Given the description of an element on the screen output the (x, y) to click on. 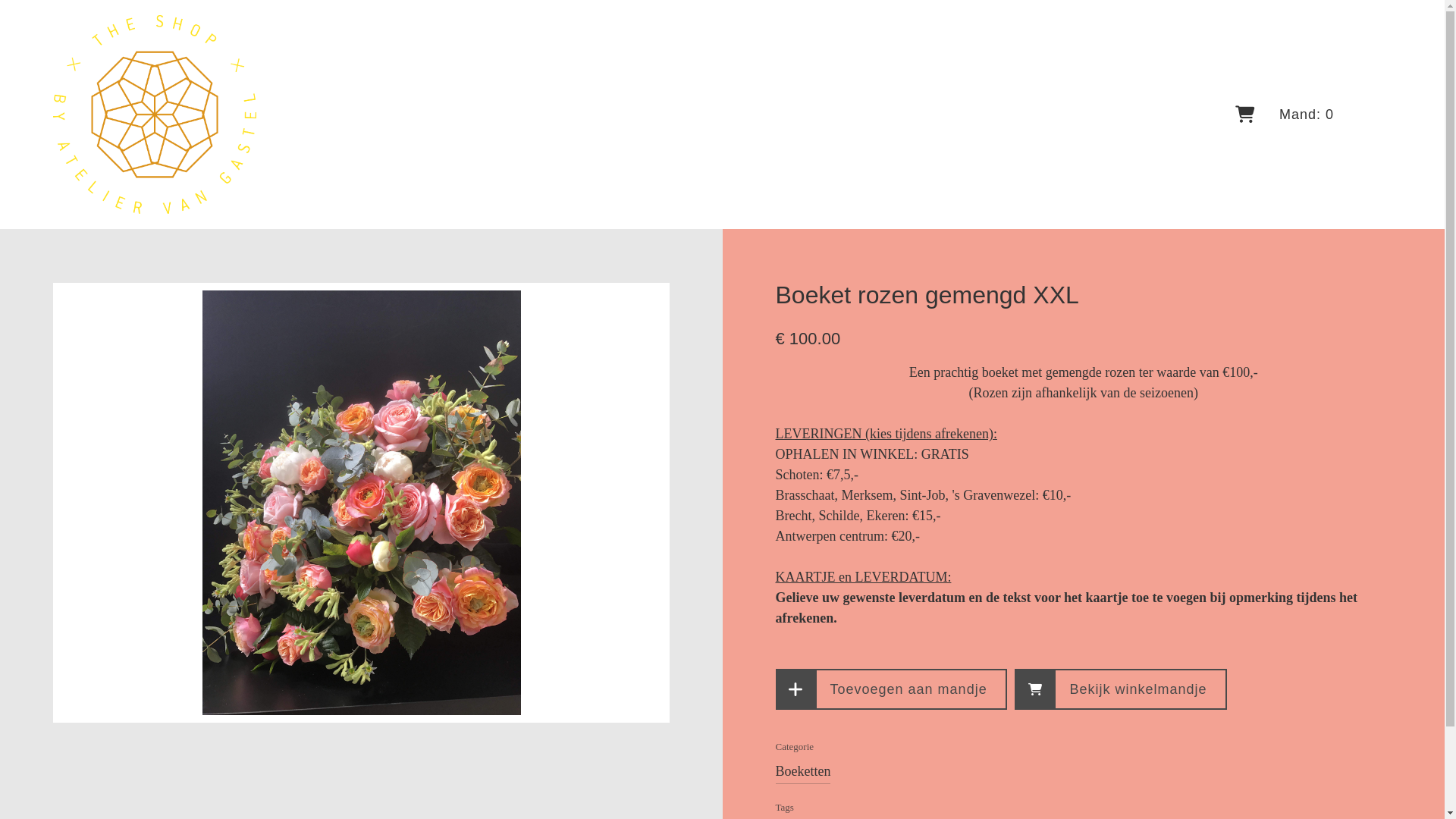
Mand: 0 Element type: text (1288, 114)
Boeket rozen gemengd XXL Element type: hover (361, 502)
Toevoegen aan mandje Element type: text (890, 688)
Boeketten Element type: text (802, 771)
Bekijk winkelmandje Element type: text (1120, 688)
Atelier Van Gastel Element type: hover (154, 114)
